Given the description of an element on the screen output the (x, y) to click on. 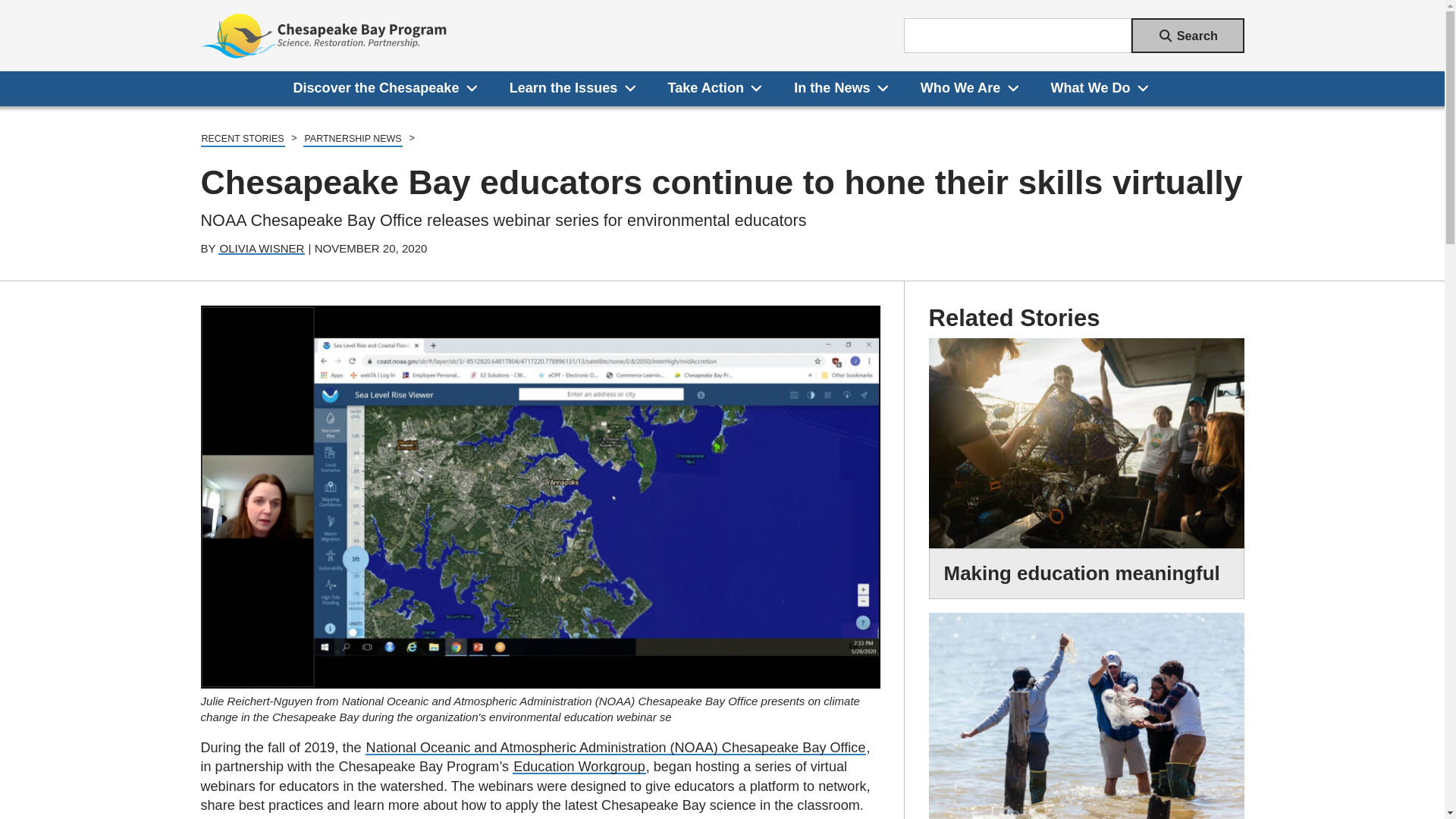
Making education meaningful (1082, 572)
PARTNERSHIP NEWS (351, 139)
Education Workgroup (579, 766)
OLIVIA WISNER (261, 247)
RECENT STORIES (241, 139)
Search (1187, 35)
